Given the description of an element on the screen output the (x, y) to click on. 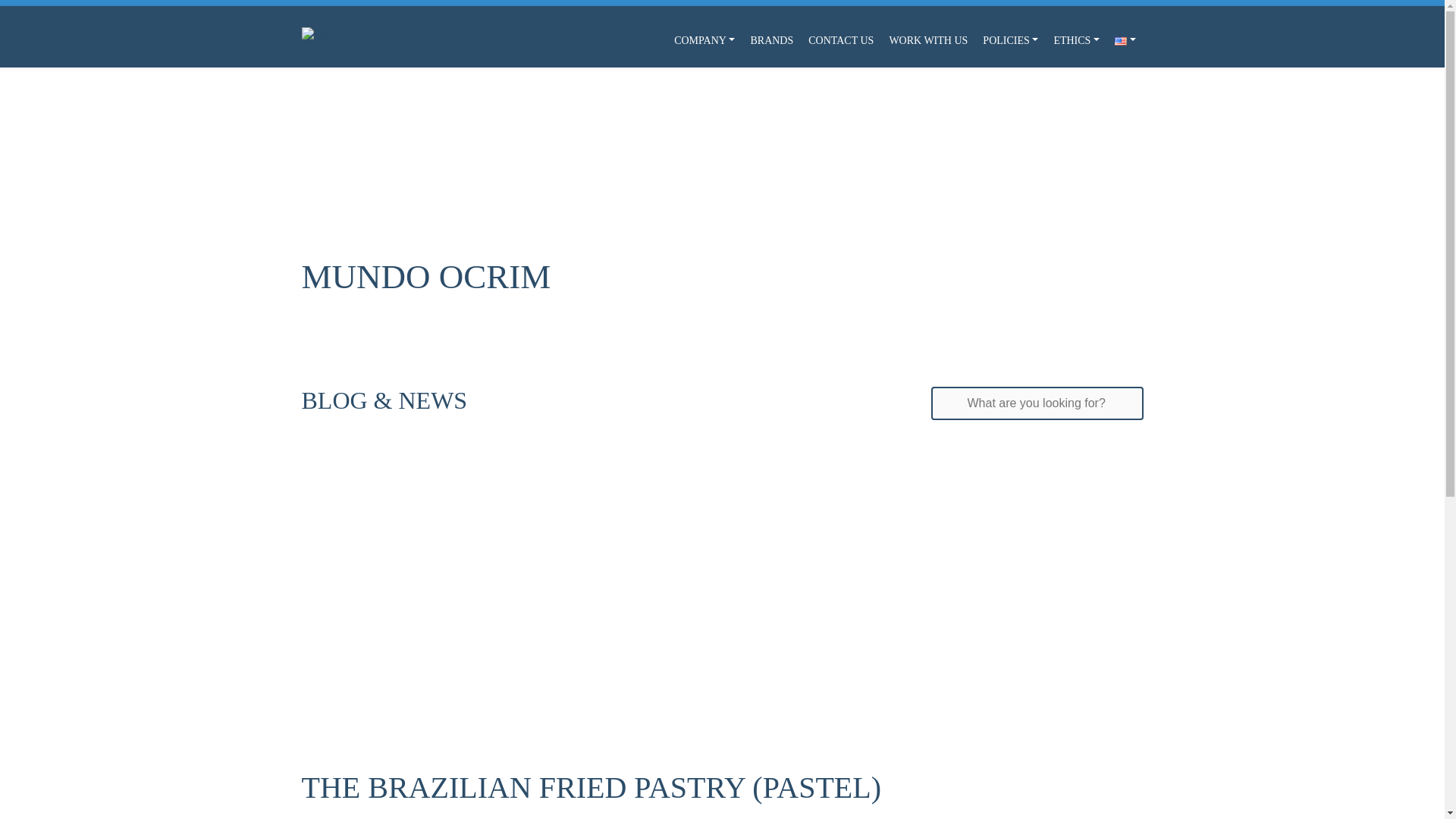
Ethics (1075, 40)
Policies (1010, 40)
WORK WITH US (927, 40)
Ocrim (327, 40)
POLICIES (1010, 40)
COMPANY (704, 40)
Work With Us (927, 40)
CONTACT US (840, 40)
Brands (771, 40)
Company (704, 40)
